Given the description of an element on the screen output the (x, y) to click on. 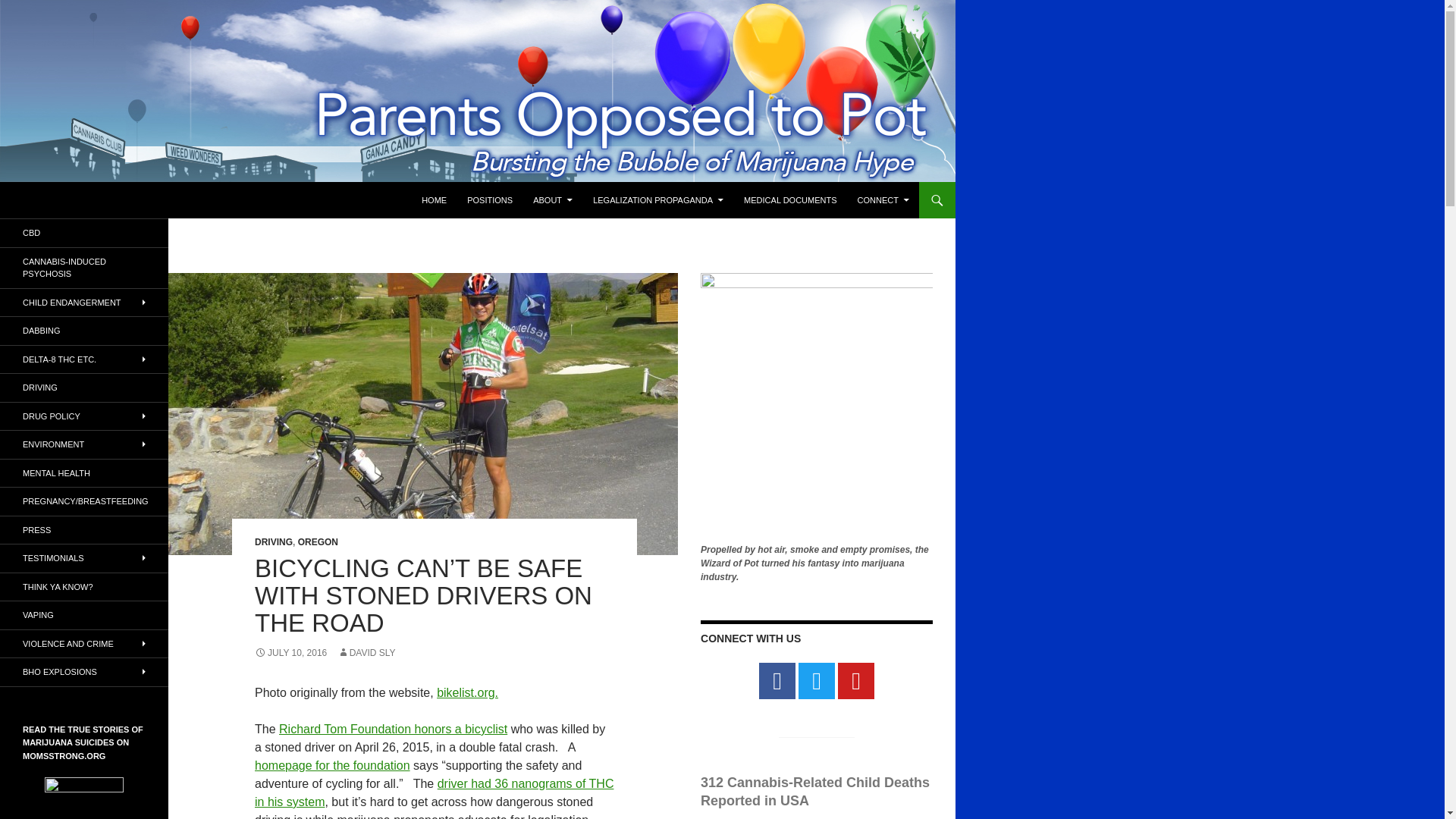
twitter (815, 680)
POSITIONS (489, 199)
Richard Tom Foundation honors a bicyclist (392, 728)
homepage for the foundation (332, 765)
facebook (776, 680)
JULY 10, 2016 (290, 652)
MEDICAL DOCUMENTS (790, 199)
ABOUT (552, 199)
LEGALIZATION PROPAGANDA (657, 199)
DRIVING (273, 542)
CONNECT (883, 199)
driver had 36 nanograms of THC in his system (433, 792)
DAVID SLY (366, 652)
bikelist.org. (466, 692)
